Given the description of an element on the screen output the (x, y) to click on. 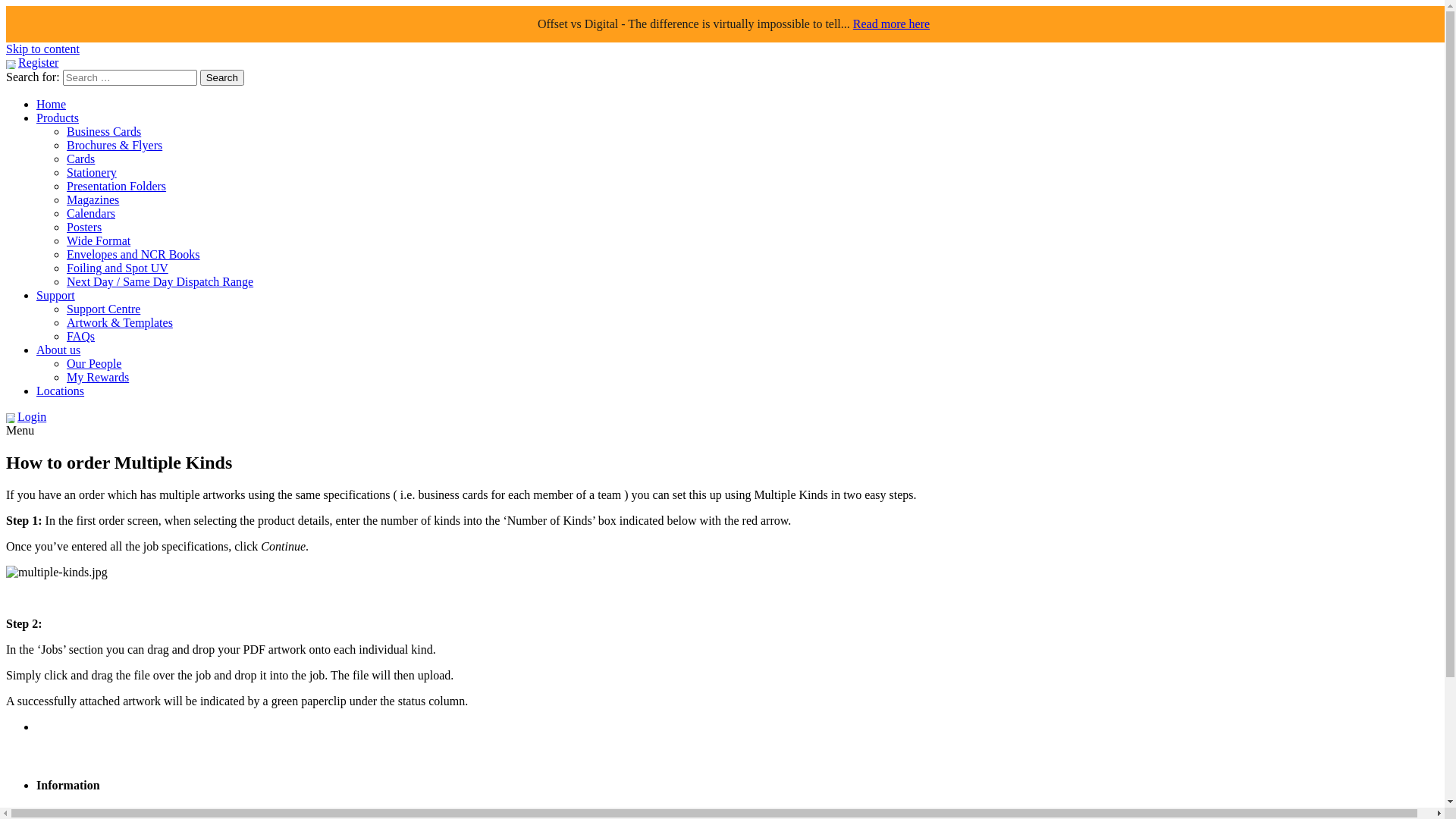
Next Day / Same Day Dispatch Range Element type: text (159, 281)
Envelopes and NCR Books Element type: text (133, 253)
Stationery Element type: text (91, 172)
Read more here Element type: text (891, 23)
Foiling and Spot UV Element type: text (117, 267)
Cards Element type: text (80, 158)
Login Element type: text (31, 416)
My Rewards Element type: text (97, 376)
About us Element type: text (58, 349)
Search Element type: text (222, 77)
Artwork & Templates Element type: text (119, 322)
Our People Element type: text (93, 363)
Support Element type: text (55, 294)
Calendars Element type: text (90, 213)
lep@lepcolourprinters.com.au Element type: text (136, 754)
Register Element type: text (38, 62)
Wide Format Element type: text (98, 240)
Home Element type: text (50, 103)
Business Cards Element type: text (103, 131)
Posters Element type: text (83, 226)
Support Centre Element type: text (103, 308)
FAQs Element type: text (80, 335)
Products Element type: text (57, 117)
Presentation Folders Element type: text (116, 185)
Locations Element type: text (60, 390)
Brochures & Flyers Element type: text (114, 144)
1800 537 774 Element type: text (69, 726)
Magazines Element type: text (92, 199)
Skip to content Element type: text (42, 48)
